Given the description of an element on the screen output the (x, y) to click on. 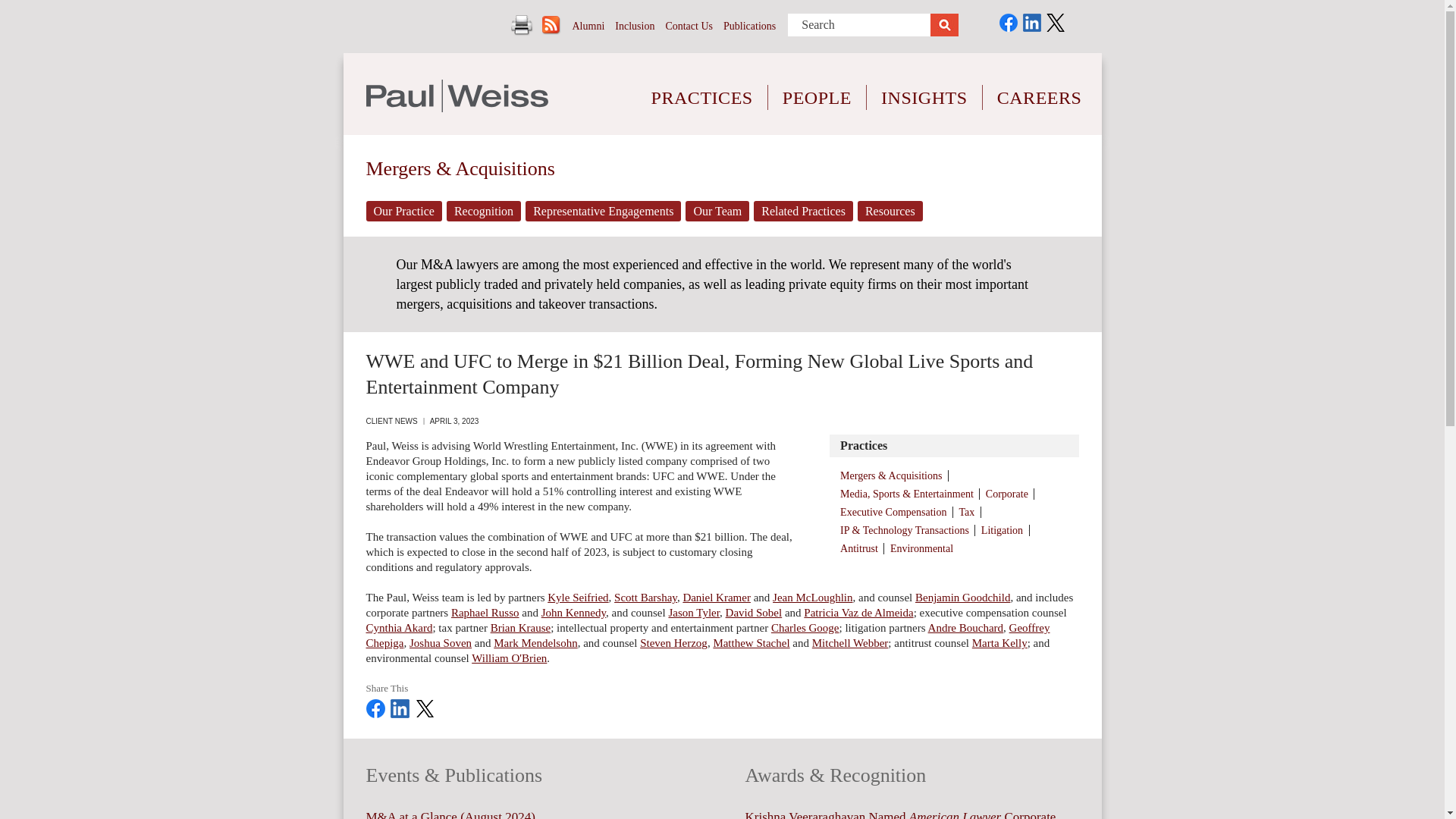
Inclusion (633, 25)
Print (522, 25)
PRACTICES (702, 86)
Contact Us (689, 25)
logo (456, 95)
SEARCH (944, 24)
RSS (550, 25)
